Given the description of an element on the screen output the (x, y) to click on. 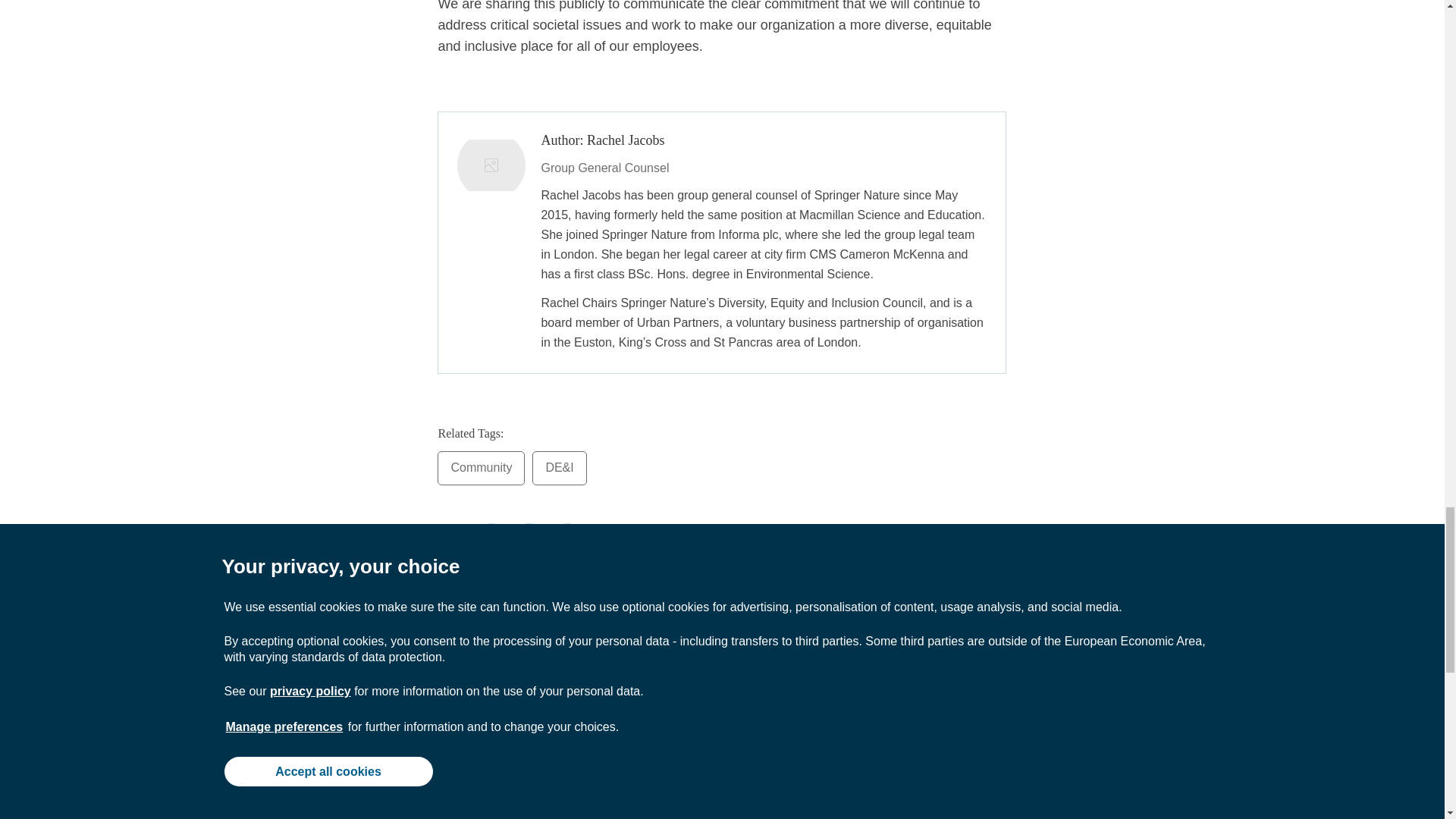
facebook (490, 540)
linkedin (566, 540)
twitter (528, 540)
